Given the description of an element on the screen output the (x, y) to click on. 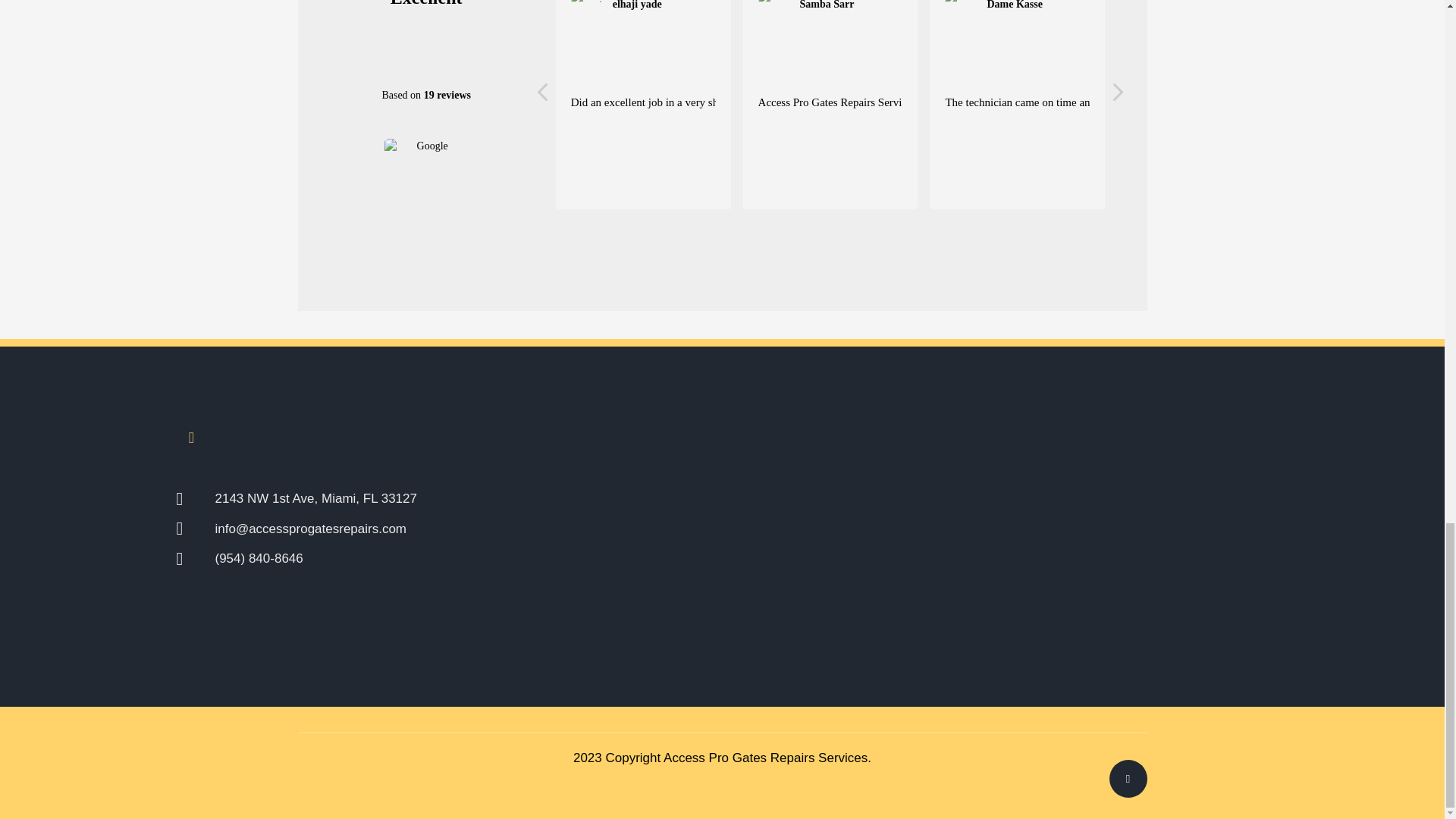
2143 NW 1st Ave, Miami, FL 33127 (408, 498)
Access Pro Gates Repairs Services (765, 757)
Facebook (191, 437)
